Given the description of an element on the screen output the (x, y) to click on. 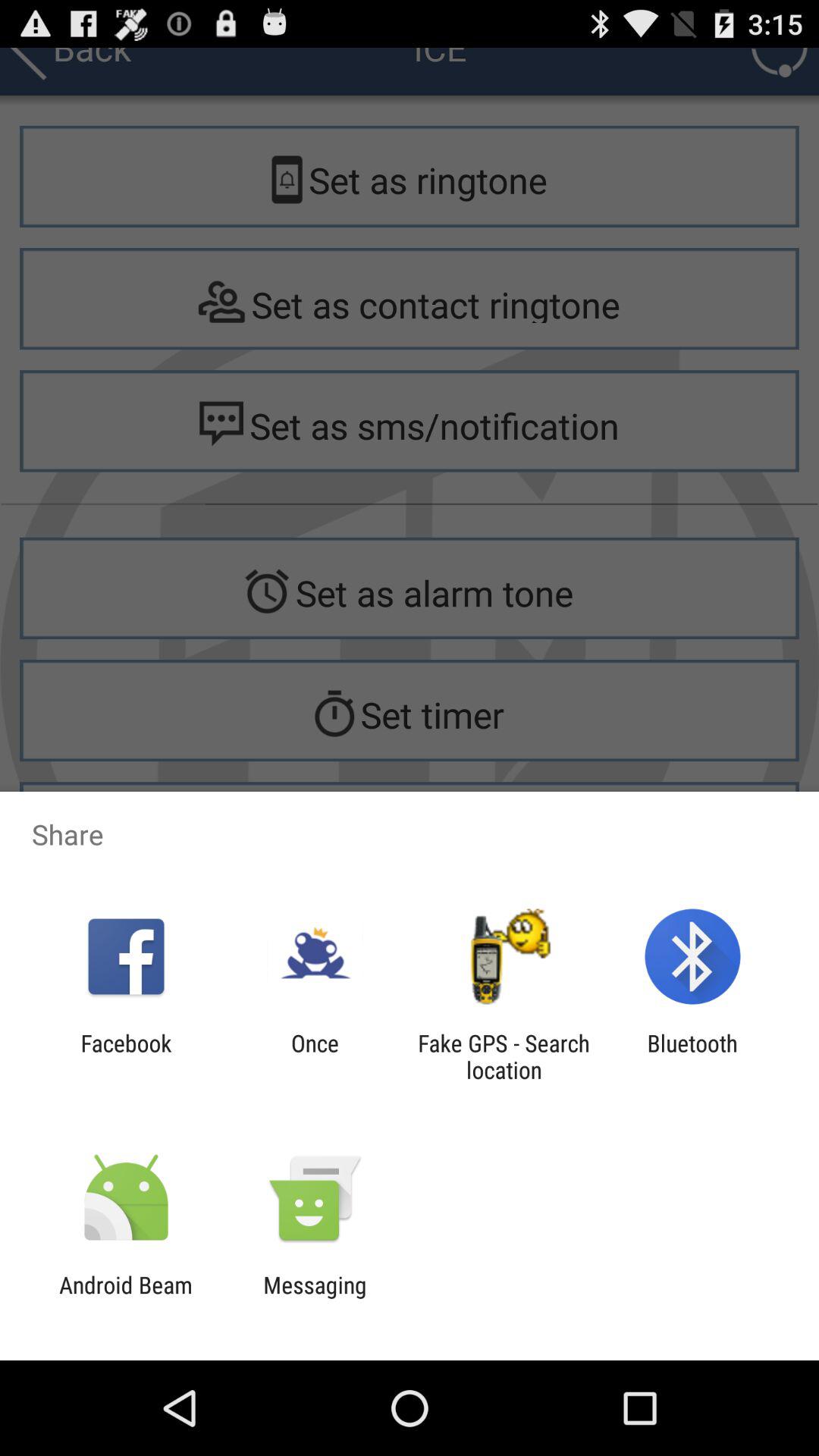
launch app next to the once item (503, 1056)
